Given the description of an element on the screen output the (x, y) to click on. 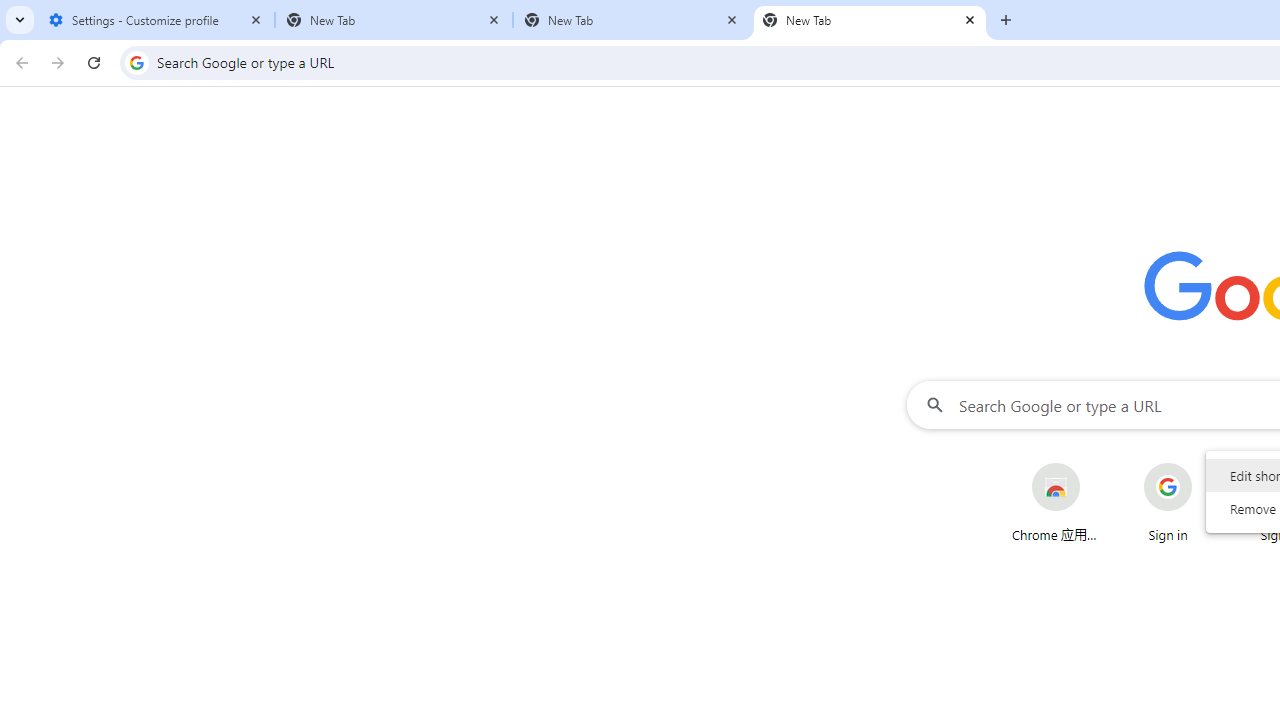
Settings - Customize profile (156, 20)
New Tab (870, 20)
New Tab (394, 20)
New Tab (632, 20)
